Given the description of an element on the screen output the (x, y) to click on. 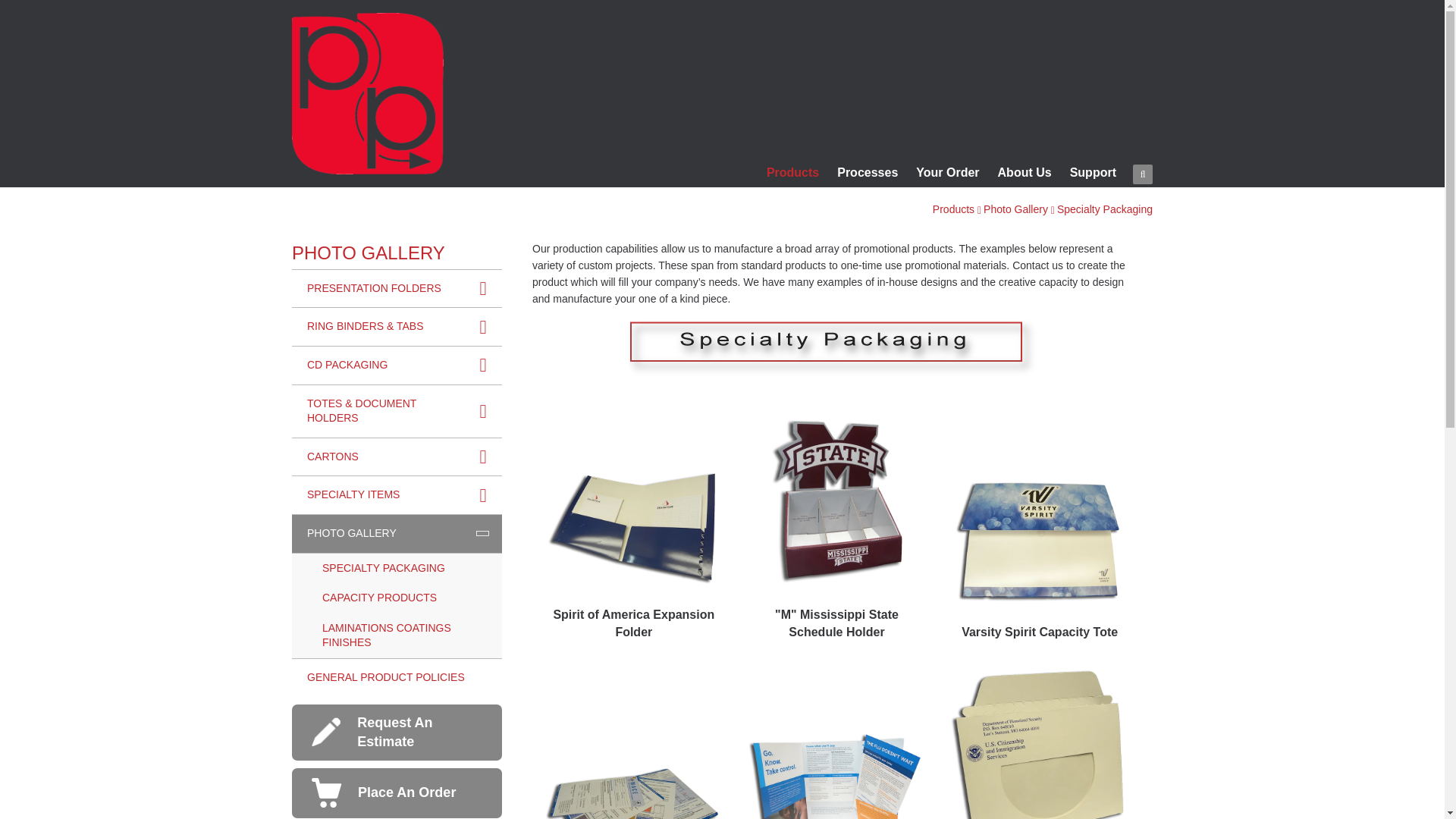
logo (368, 93)
